Given the description of an element on the screen output the (x, y) to click on. 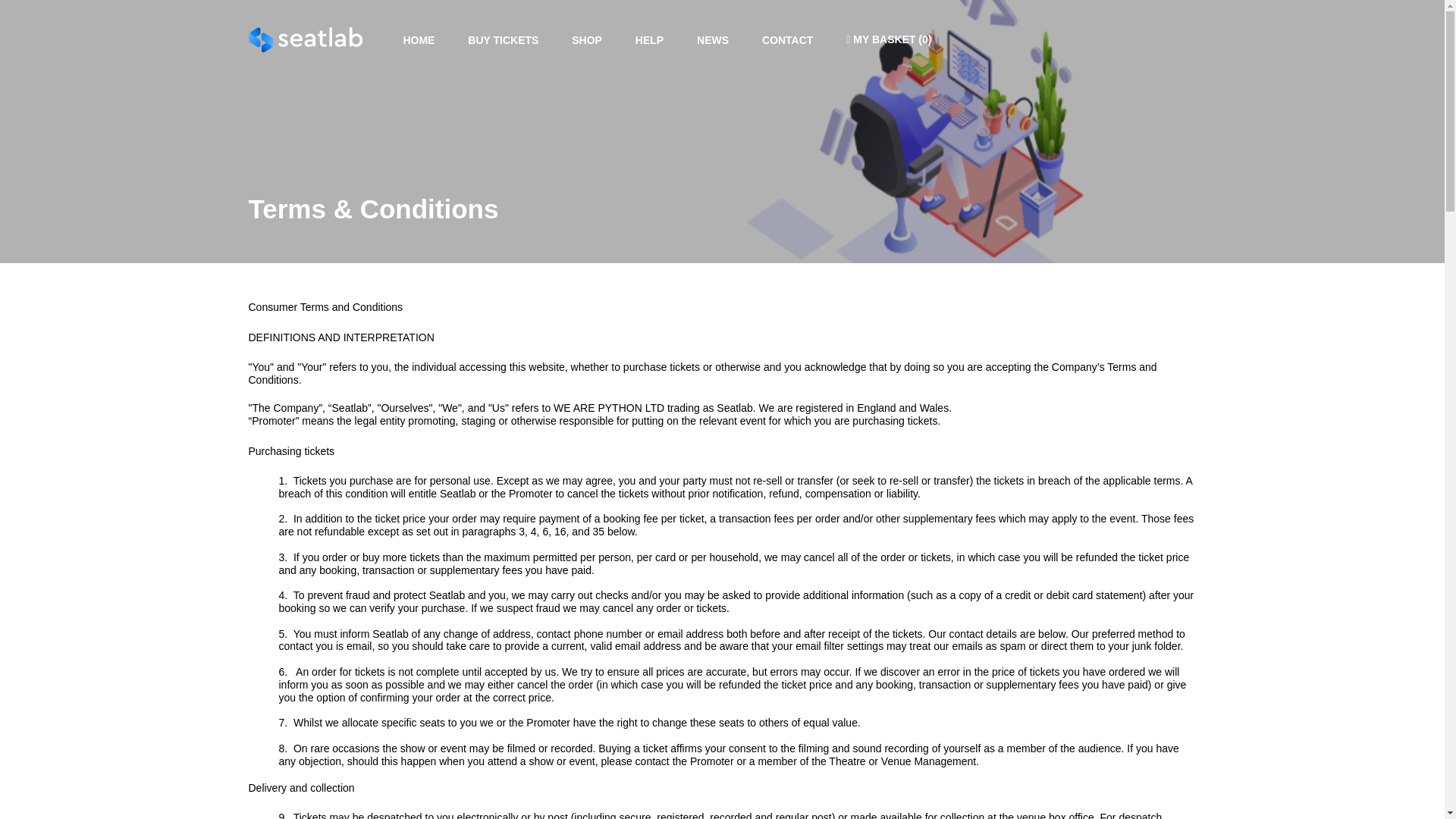
SHOP (586, 39)
CONTACT (787, 39)
NEWS (712, 39)
HELP (649, 39)
HOME (418, 39)
BUY TICKETS (502, 39)
